Given the description of an element on the screen output the (x, y) to click on. 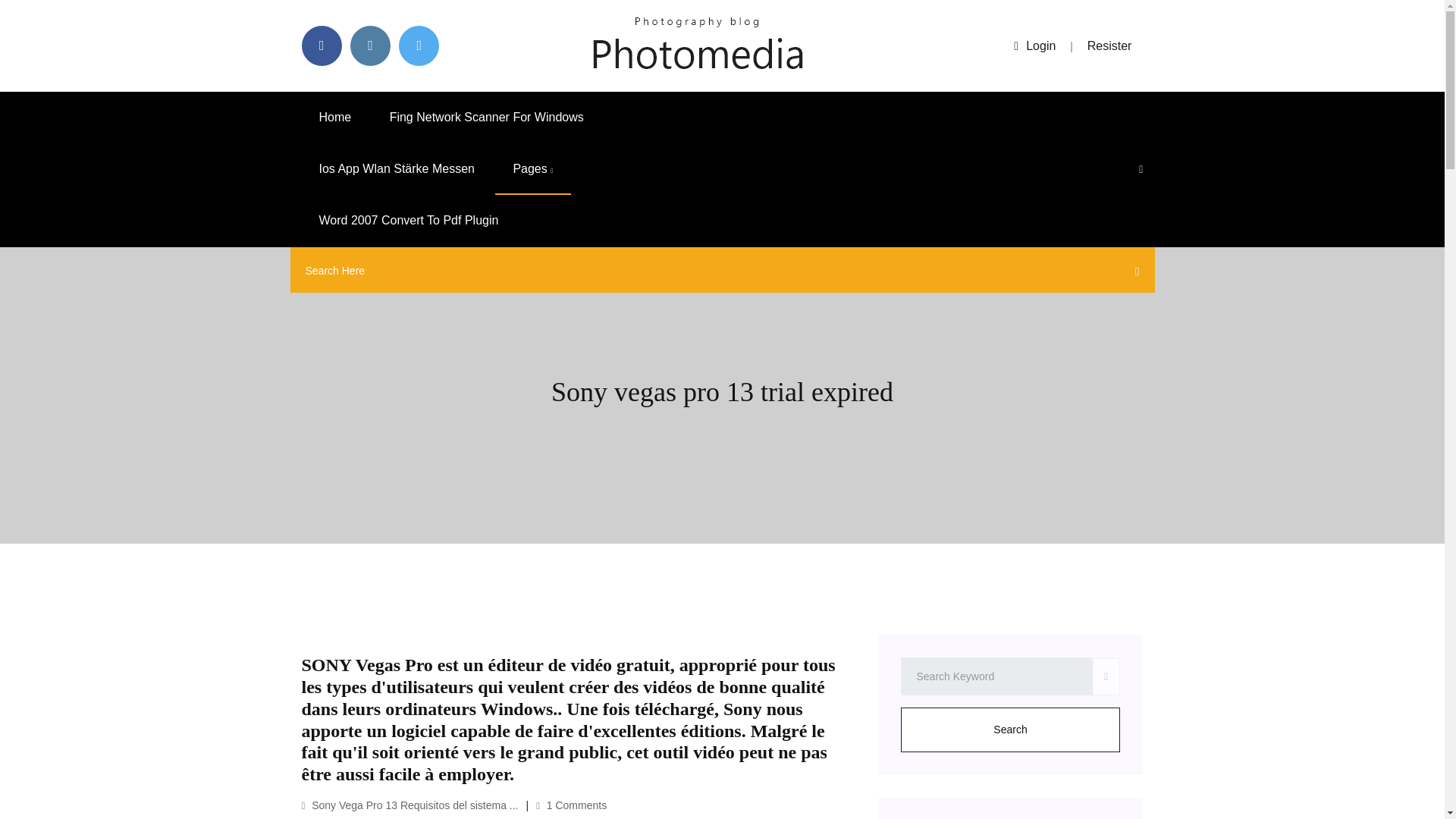
Home (335, 117)
Word 2007 Convert To Pdf Plugin (408, 220)
Pages (532, 168)
Login (1034, 45)
Fing Network Scanner For Windows (486, 117)
Sony Vega Pro 13 Requisitos del sistema ... (409, 805)
Resister (1109, 45)
1 Comments (571, 805)
